Given the description of an element on the screen output the (x, y) to click on. 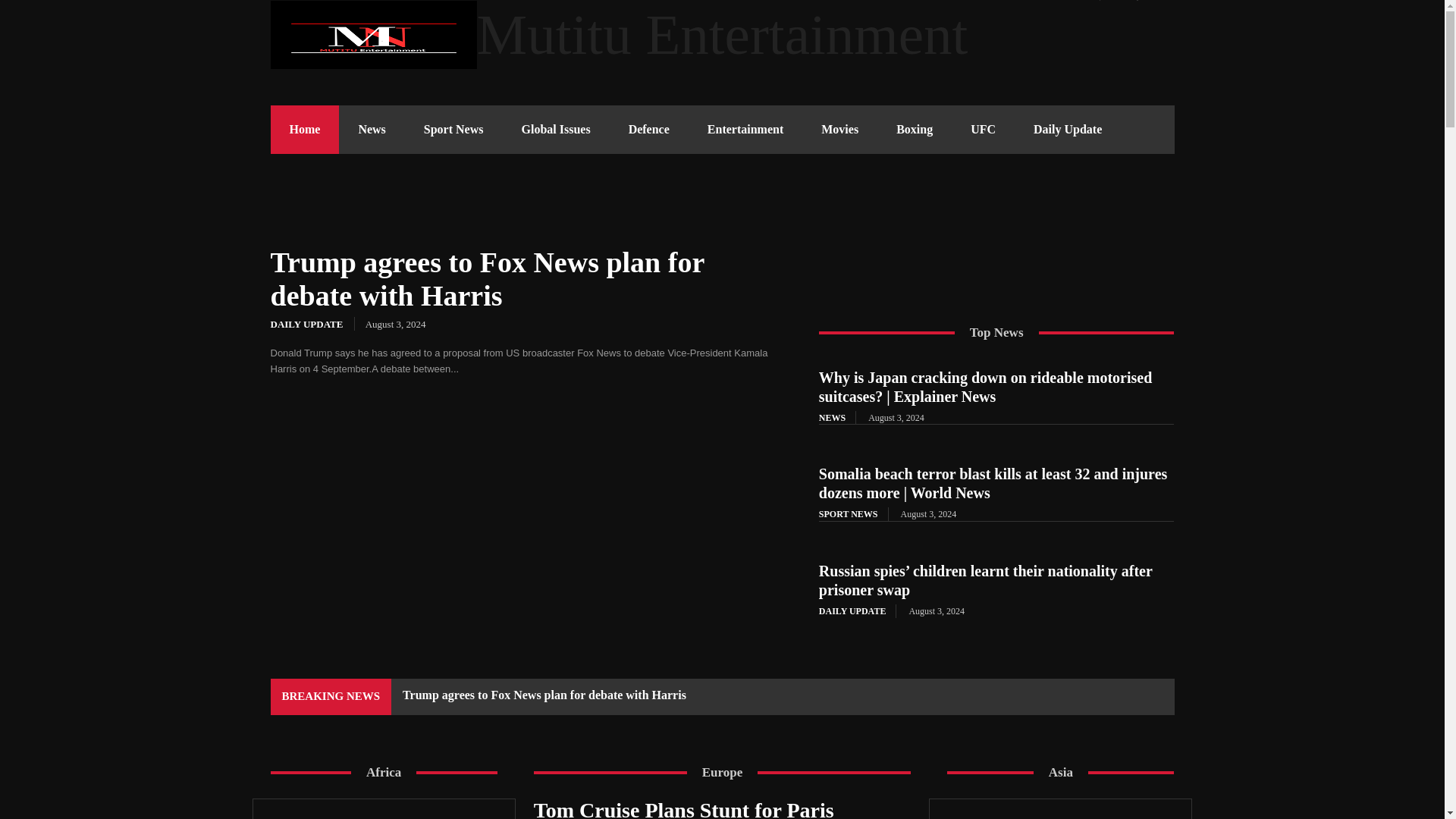
Trump agrees to Fox News plan for debate with Harris (486, 279)
Boxing (914, 129)
Sport News (453, 129)
Movies (839, 129)
News (371, 129)
Mutitu Entertainment (721, 34)
Entertainment (745, 129)
Home (304, 129)
Global Issues (555, 129)
Trump agrees to Fox News plan for debate with Harris (525, 505)
